Given the description of an element on the screen output the (x, y) to click on. 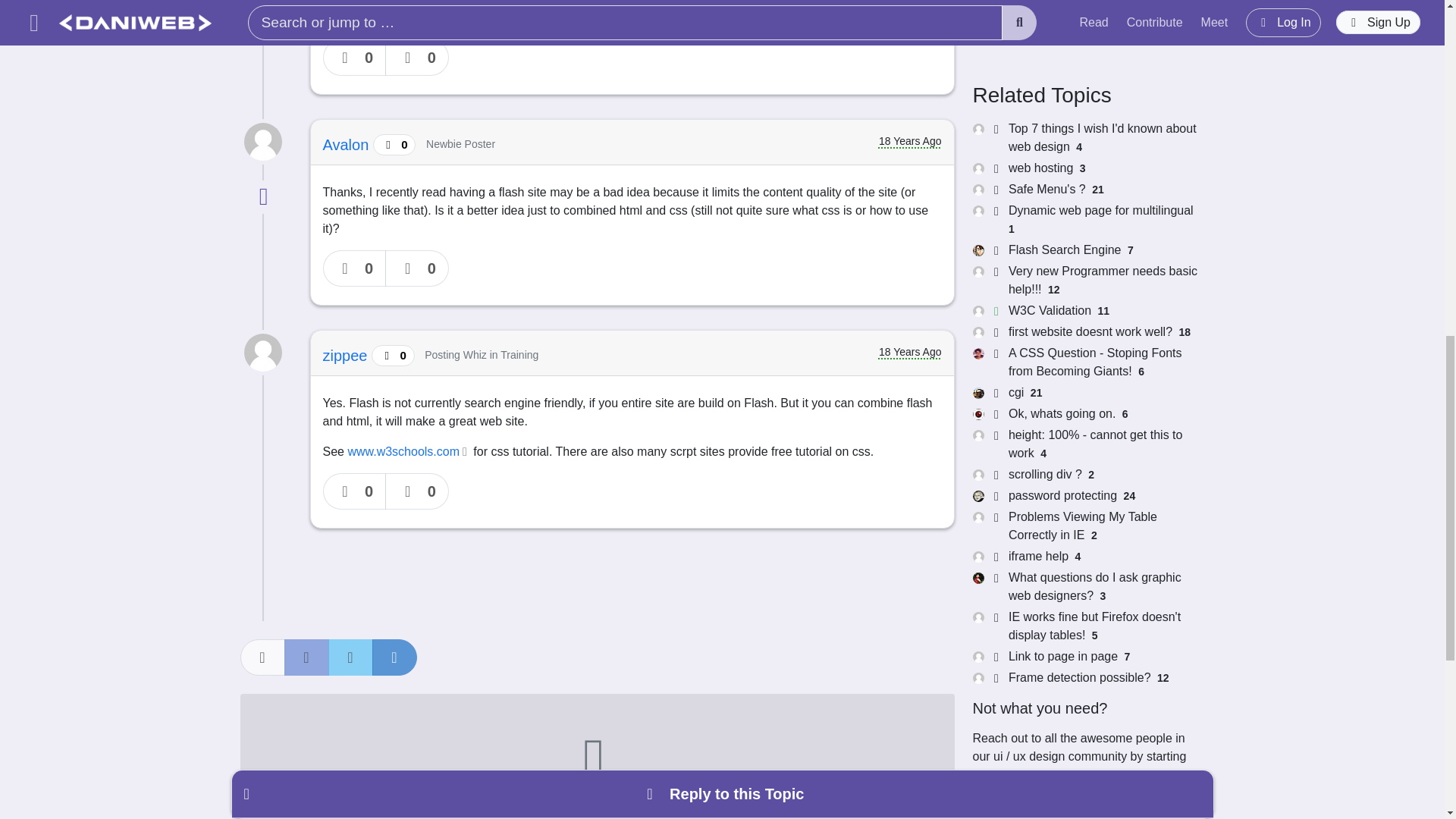
0 (355, 57)
LinkedIn (393, 657)
Twitter (349, 657)
0 (416, 491)
Avalon (347, 144)
Share (261, 657)
Reply to this topic (596, 756)
0 (355, 491)
0 (416, 57)
www.w3schools.com (407, 451)
